Given the description of an element on the screen output the (x, y) to click on. 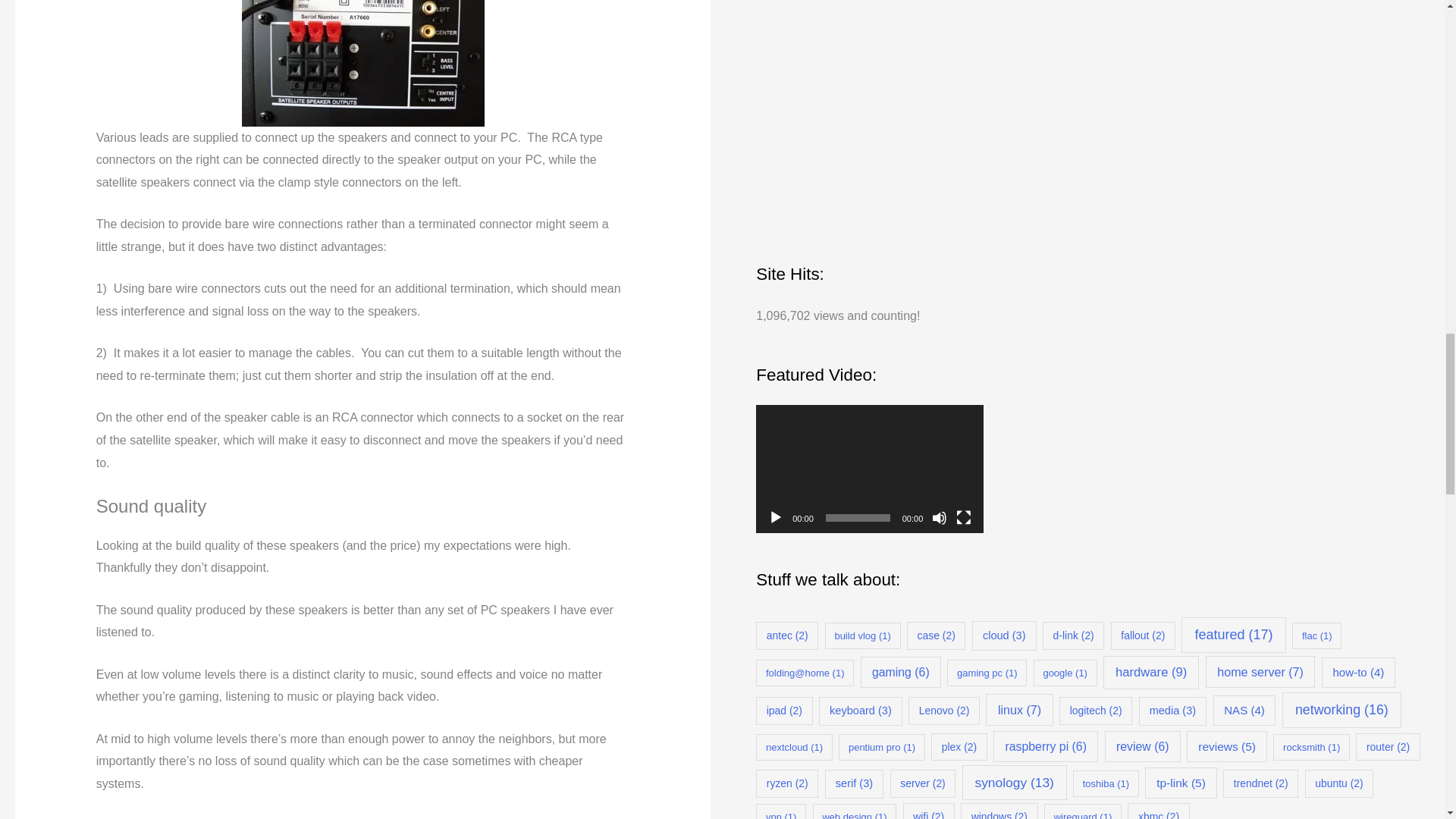
Fullscreen (963, 517)
Mute (939, 517)
Play (775, 517)
